Given the description of an element on the screen output the (x, y) to click on. 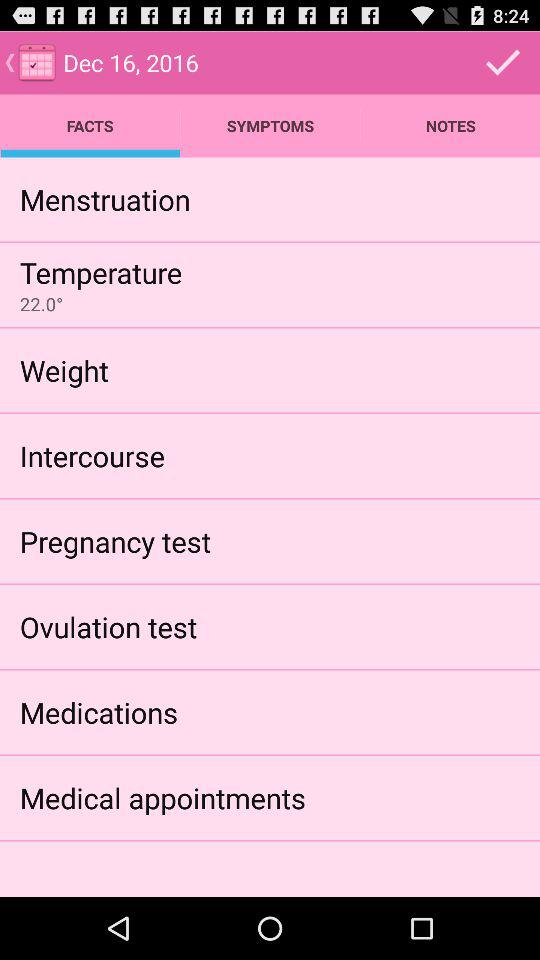
turn off the icon above the weight app (41, 303)
